Given the description of an element on the screen output the (x, y) to click on. 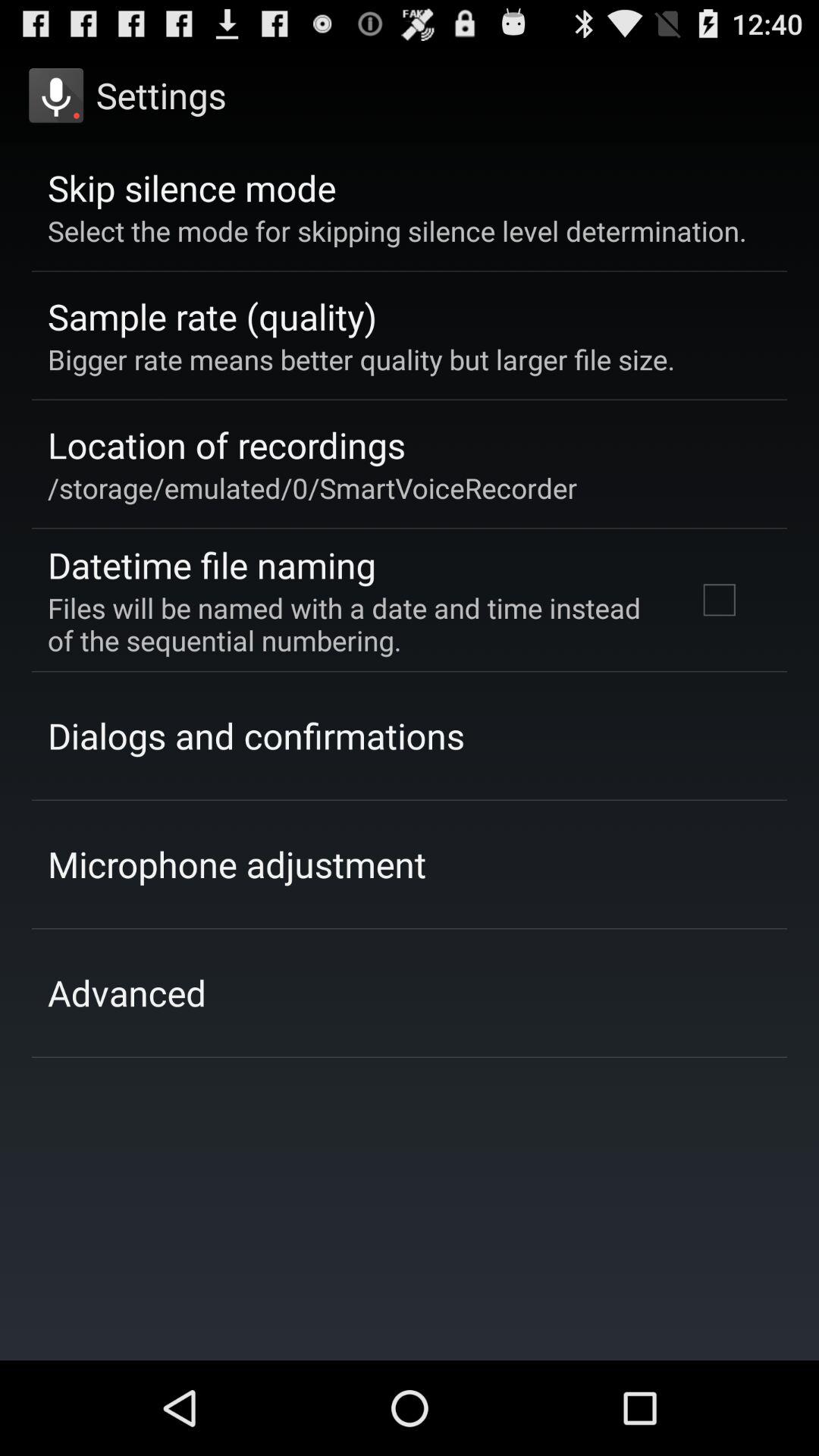
scroll to the bigger rate means app (361, 359)
